Given the description of an element on the screen output the (x, y) to click on. 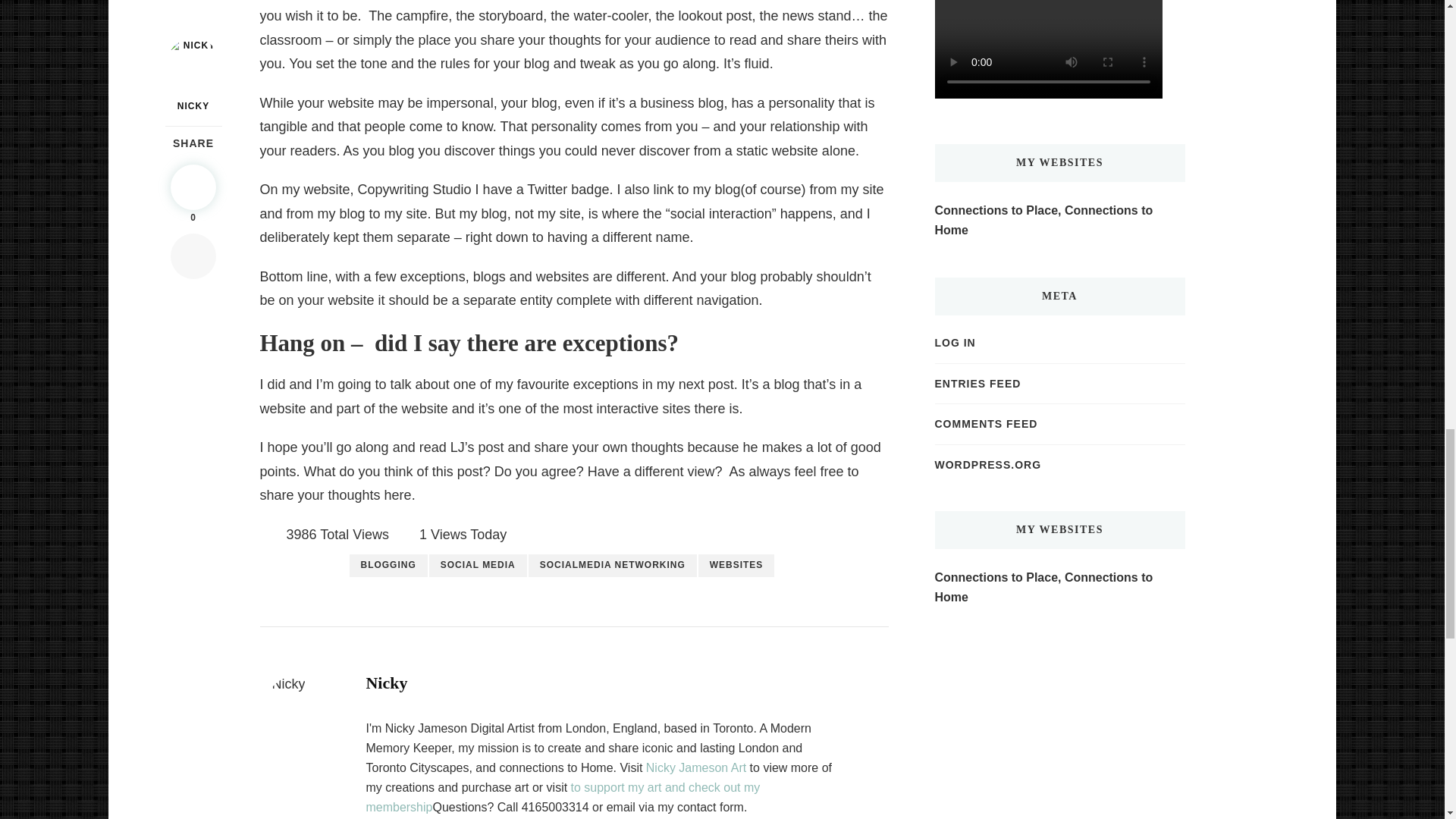
Nicky Jameson Art (695, 767)
WEBSITES (736, 565)
SOCIALMEDIA NETWORKING (612, 565)
to support my art and check out my membership (562, 797)
SOCIAL MEDIA (478, 565)
BLOGGING (387, 565)
